Given the description of an element on the screen output the (x, y) to click on. 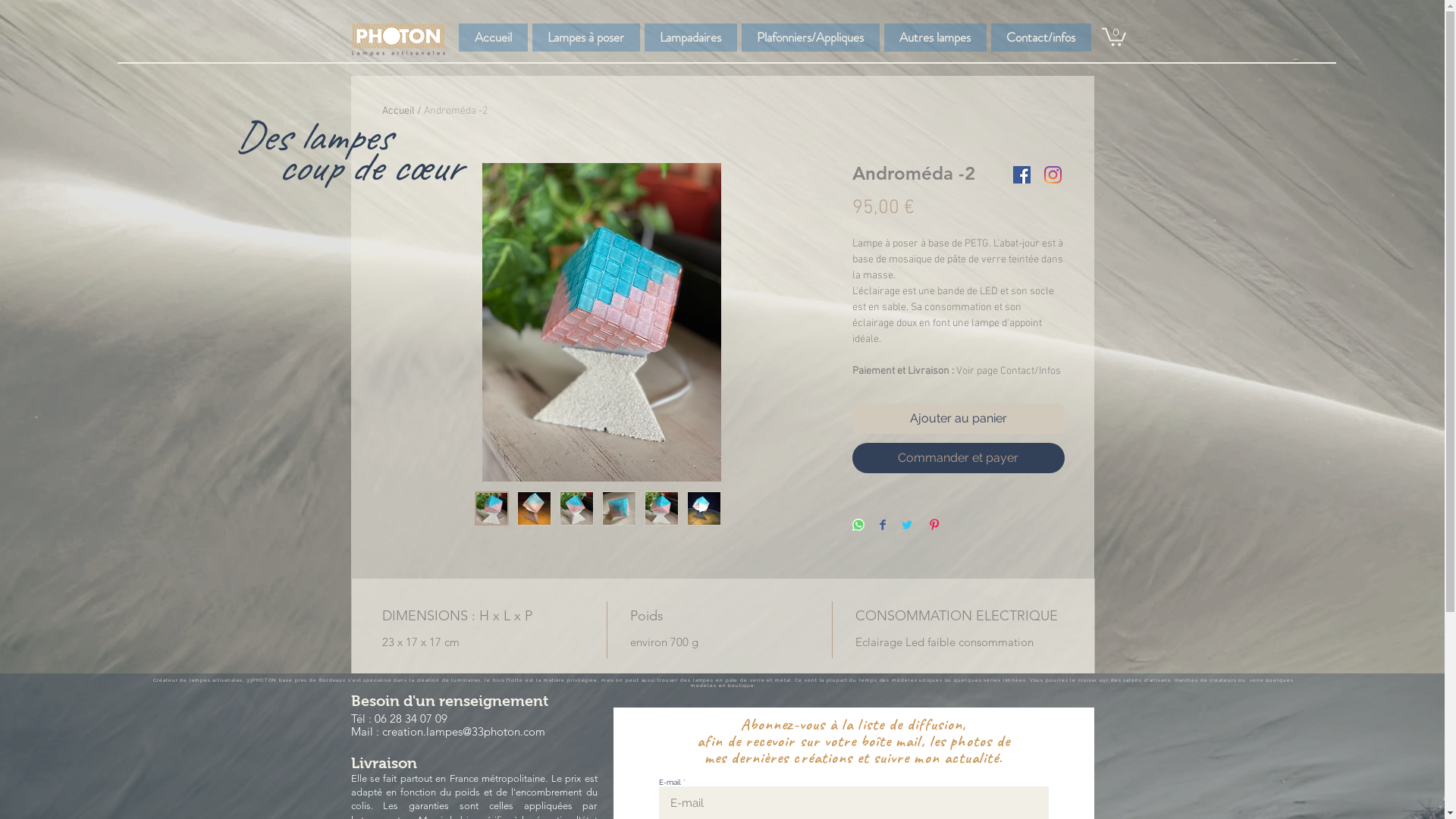
Ajouter au panier Element type: text (958, 418)
Intro Element type: text (392, 110)
Accueil Element type: text (492, 37)
creation.lampes@33photon.com Element type: text (463, 731)
Commander et payer Element type: text (958, 457)
Contact/infos Element type: text (1040, 37)
Autres lampes Element type: text (935, 37)
Plafonniers/Appliques Element type: text (810, 37)
0 Element type: text (1113, 35)
Lampadaires Element type: text (690, 37)
